Given the description of an element on the screen output the (x, y) to click on. 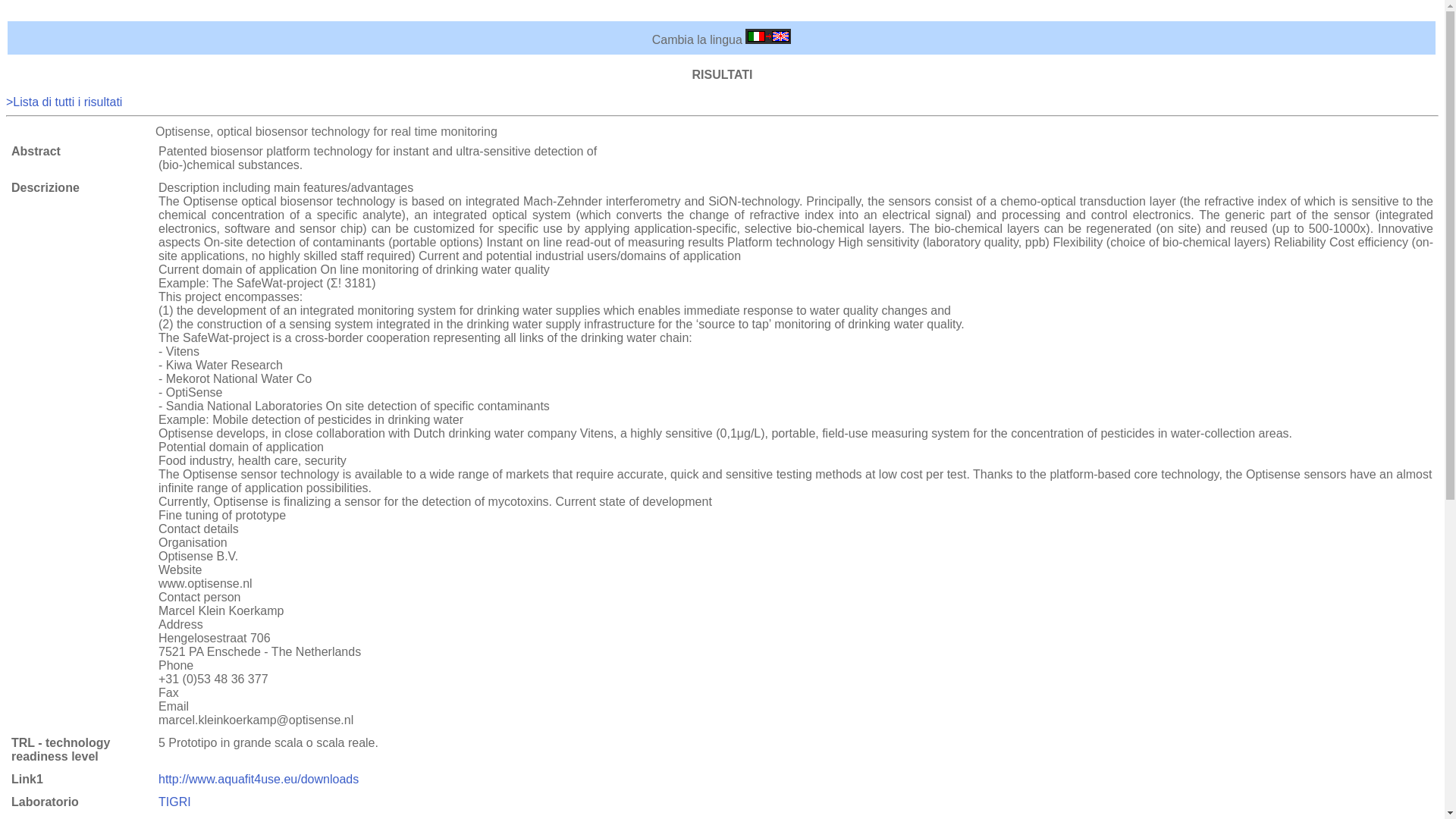
Results (63, 101)
Cambia la lingua (767, 39)
Vai al contenuto (49, 11)
TIGRI (174, 801)
